Given the description of an element on the screen output the (x, y) to click on. 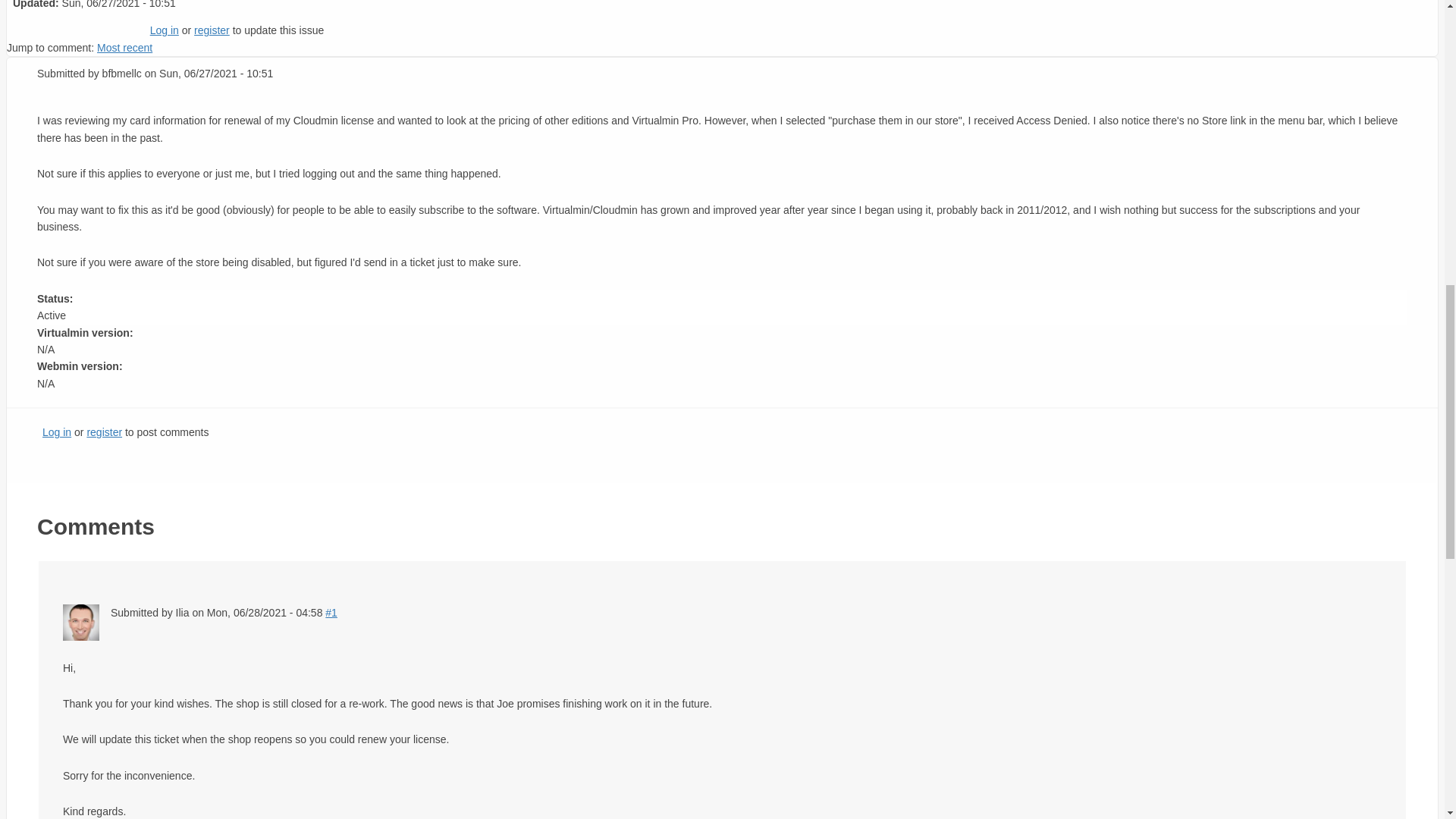
Most recent (124, 47)
Log in (56, 431)
register (103, 431)
Log in (164, 30)
Ilia's picture (80, 622)
register (211, 30)
